Given the description of an element on the screen output the (x, y) to click on. 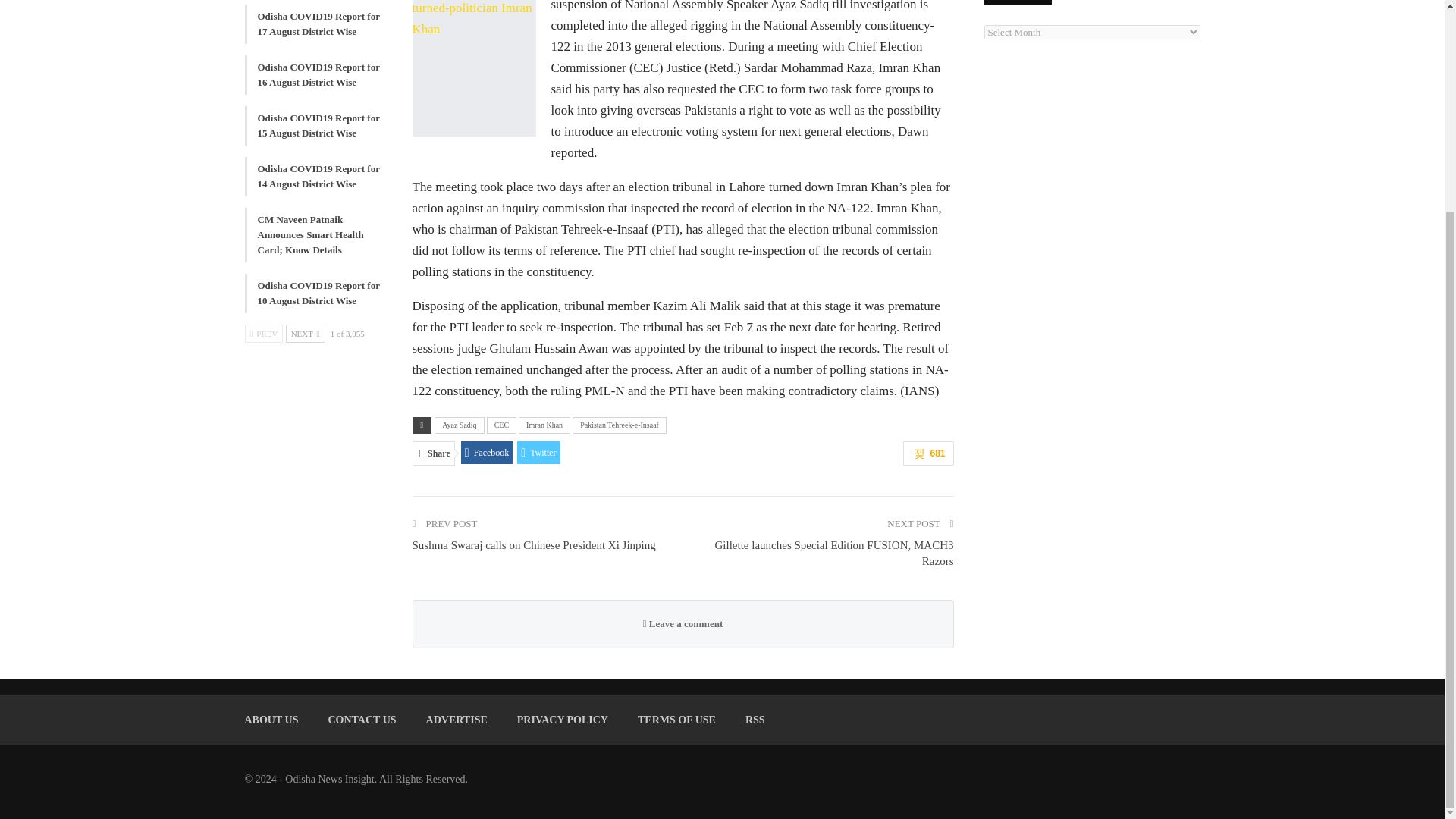
Next (304, 333)
Ayaz Sadiq (458, 425)
Previous (263, 333)
